Given the description of an element on the screen output the (x, y) to click on. 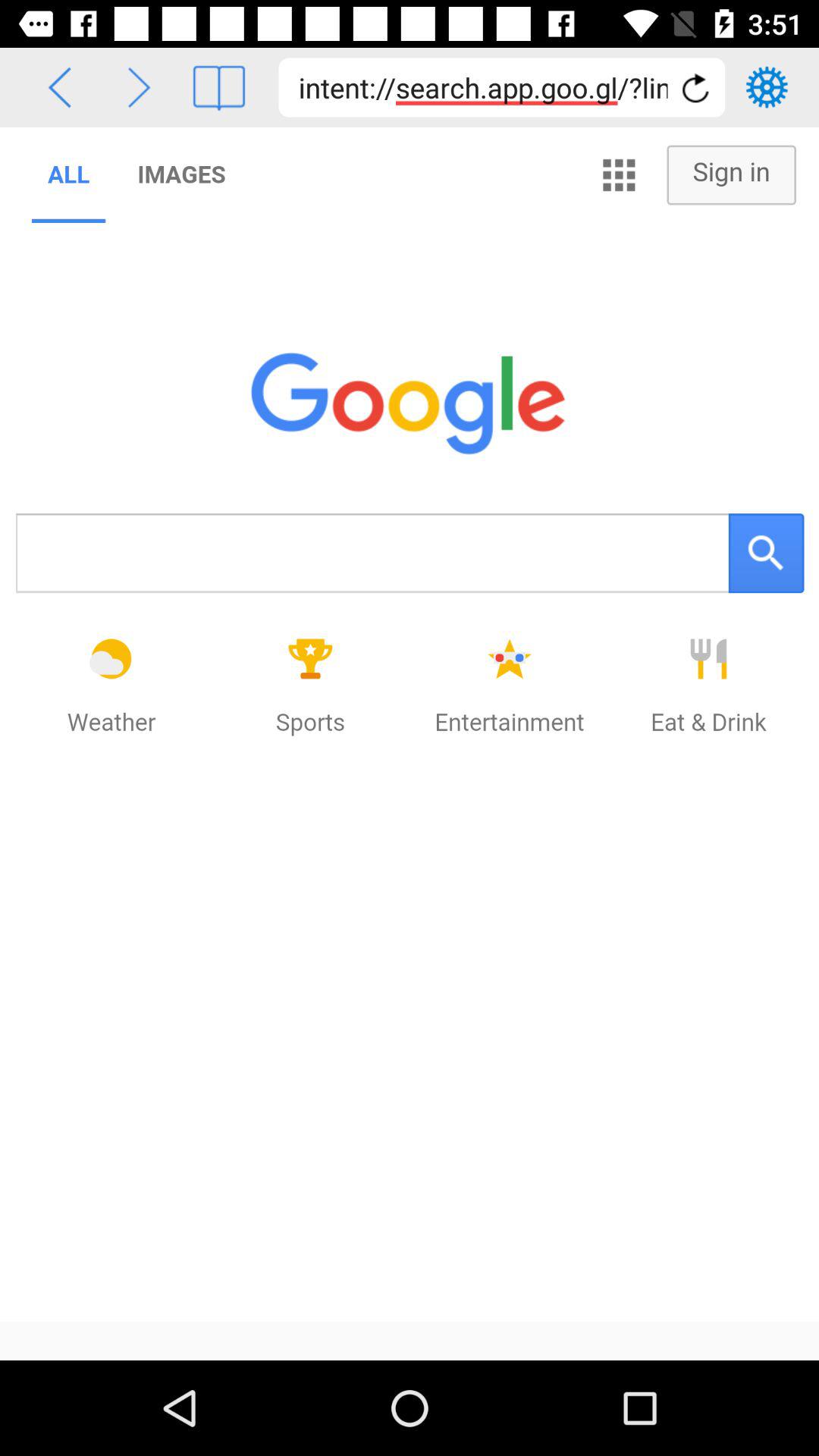
go forward (139, 87)
